Given the description of an element on the screen output the (x, y) to click on. 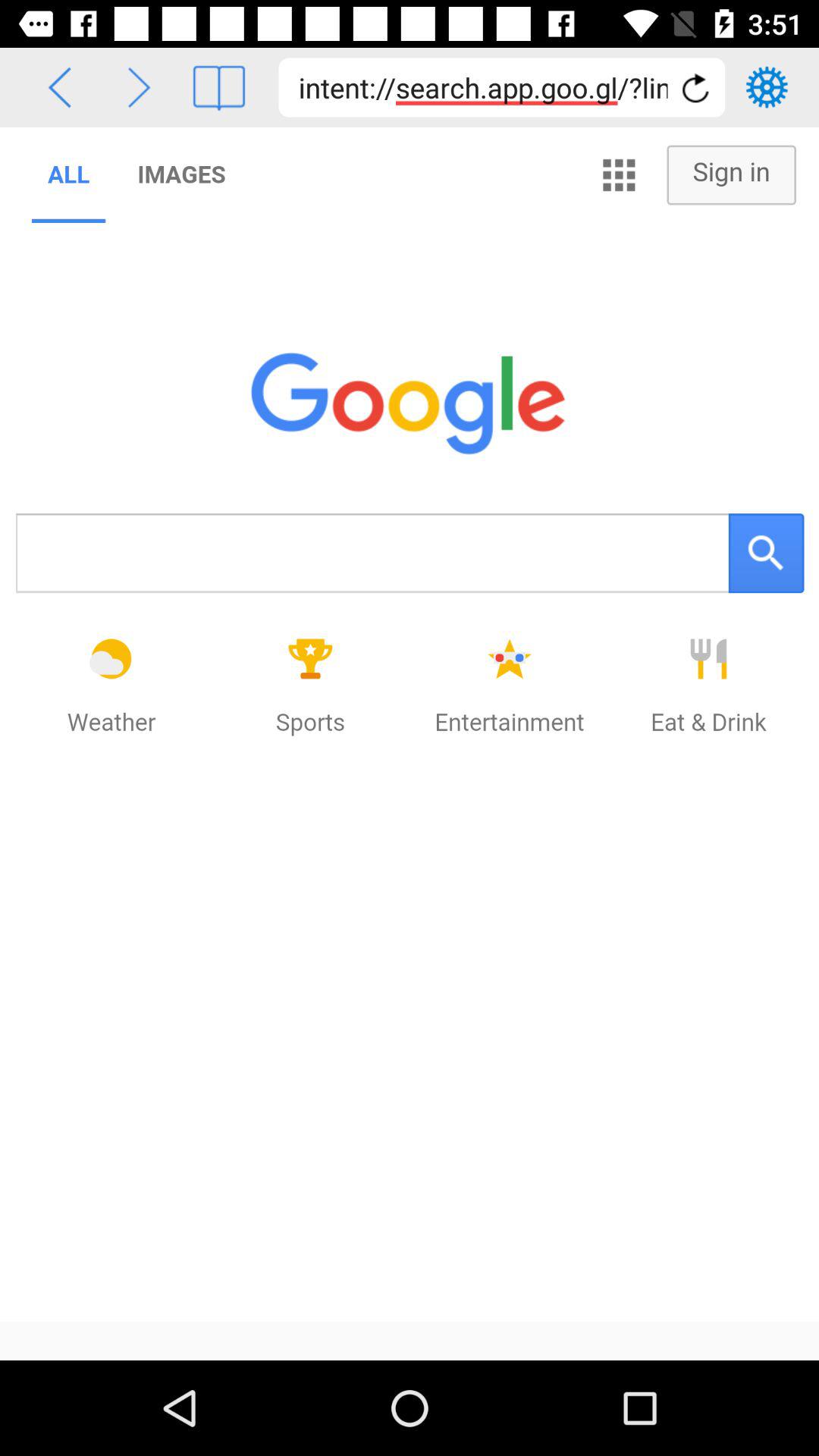
go forward (139, 87)
